Given the description of an element on the screen output the (x, y) to click on. 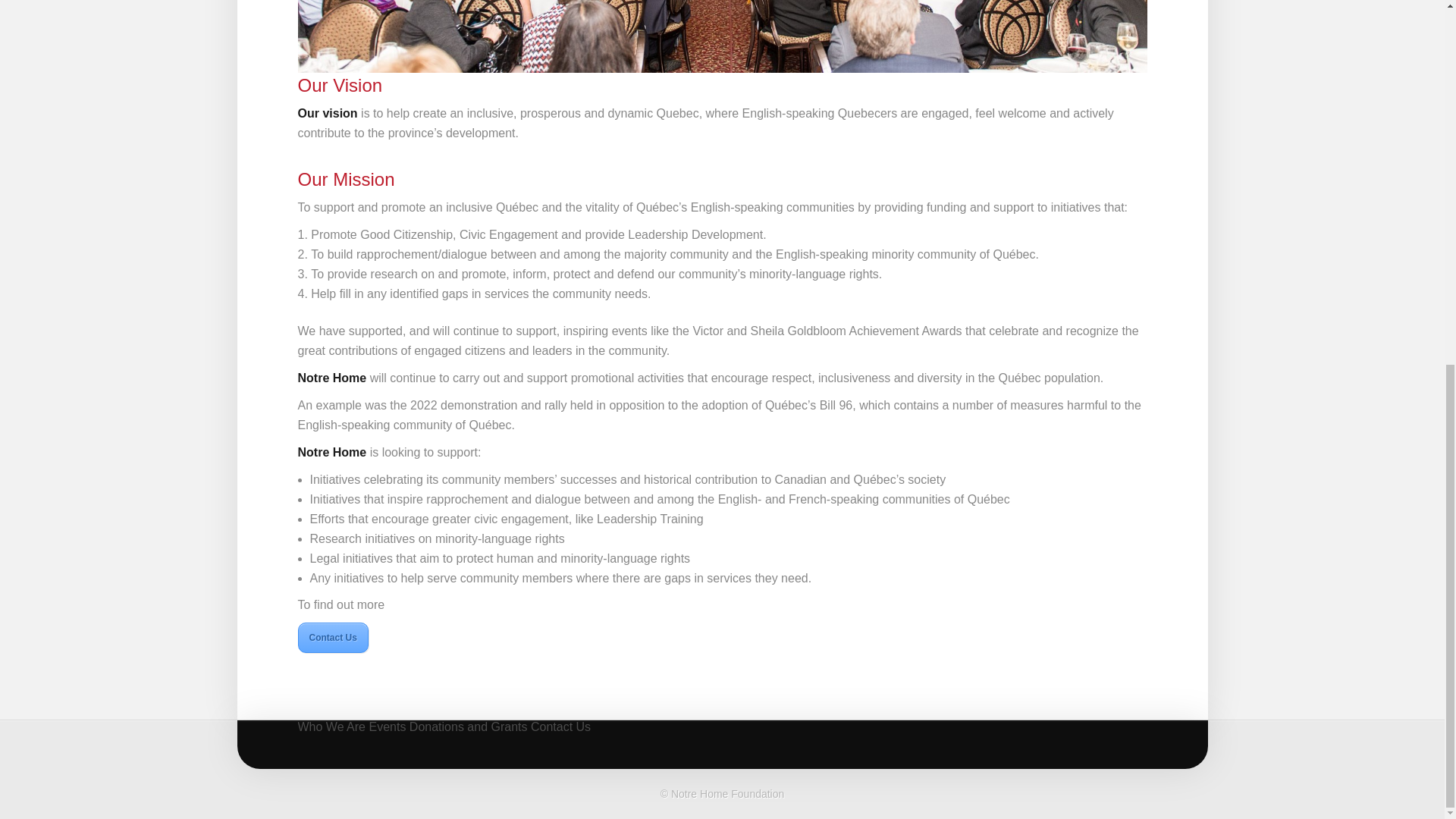
Who We Are (331, 744)
Contact Us (332, 637)
Contact Us (561, 744)
Donations and Grants (468, 744)
